Given the description of an element on the screen output the (x, y) to click on. 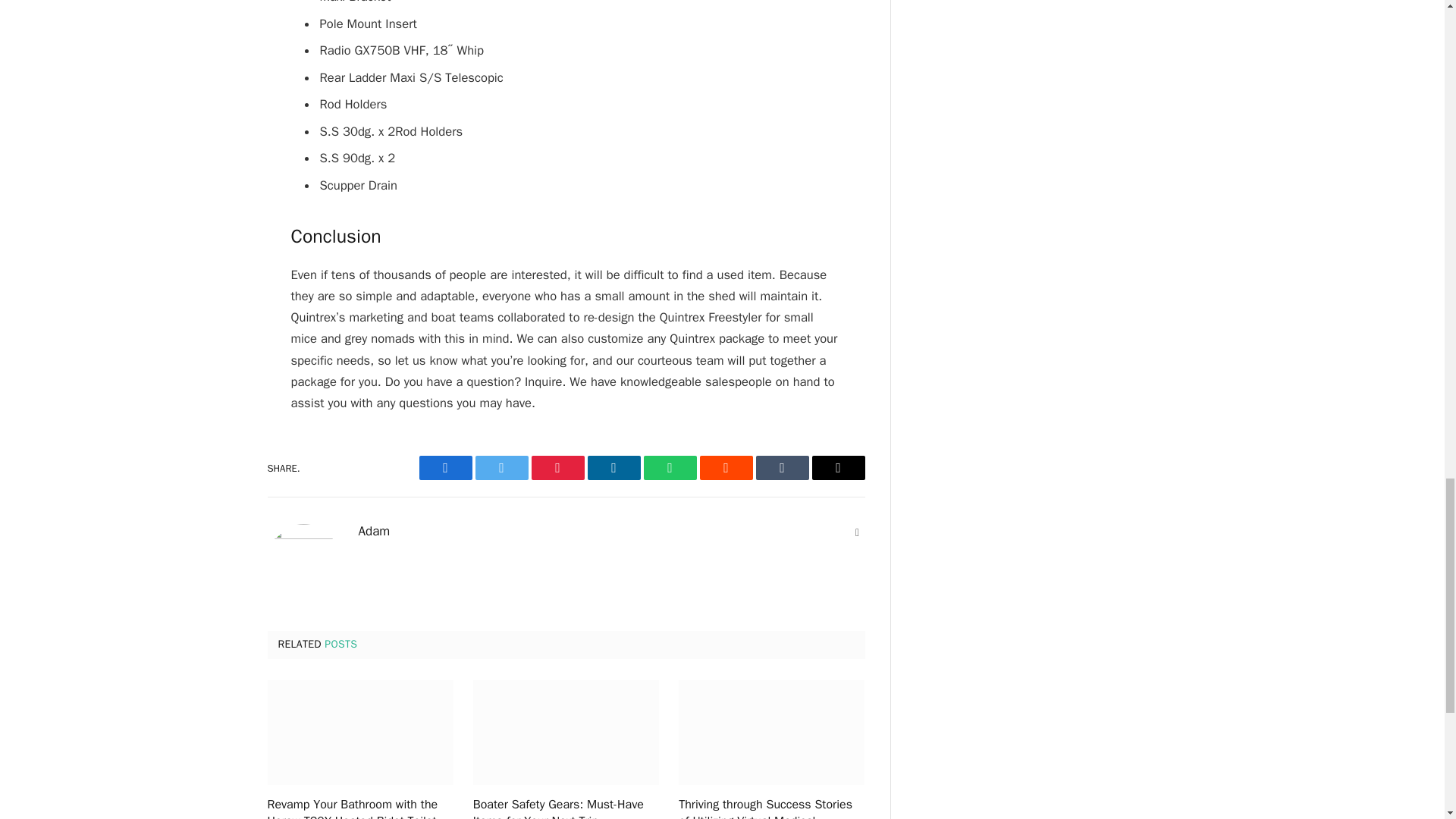
Twitter (500, 467)
Share on WhatsApp (669, 467)
Share on Facebook (445, 467)
Share on LinkedIn (613, 467)
Share on Pinterest (557, 467)
LinkedIn (613, 467)
Facebook (445, 467)
Tumblr (781, 467)
WhatsApp (669, 467)
Reddit (725, 467)
